Given the description of an element on the screen output the (x, y) to click on. 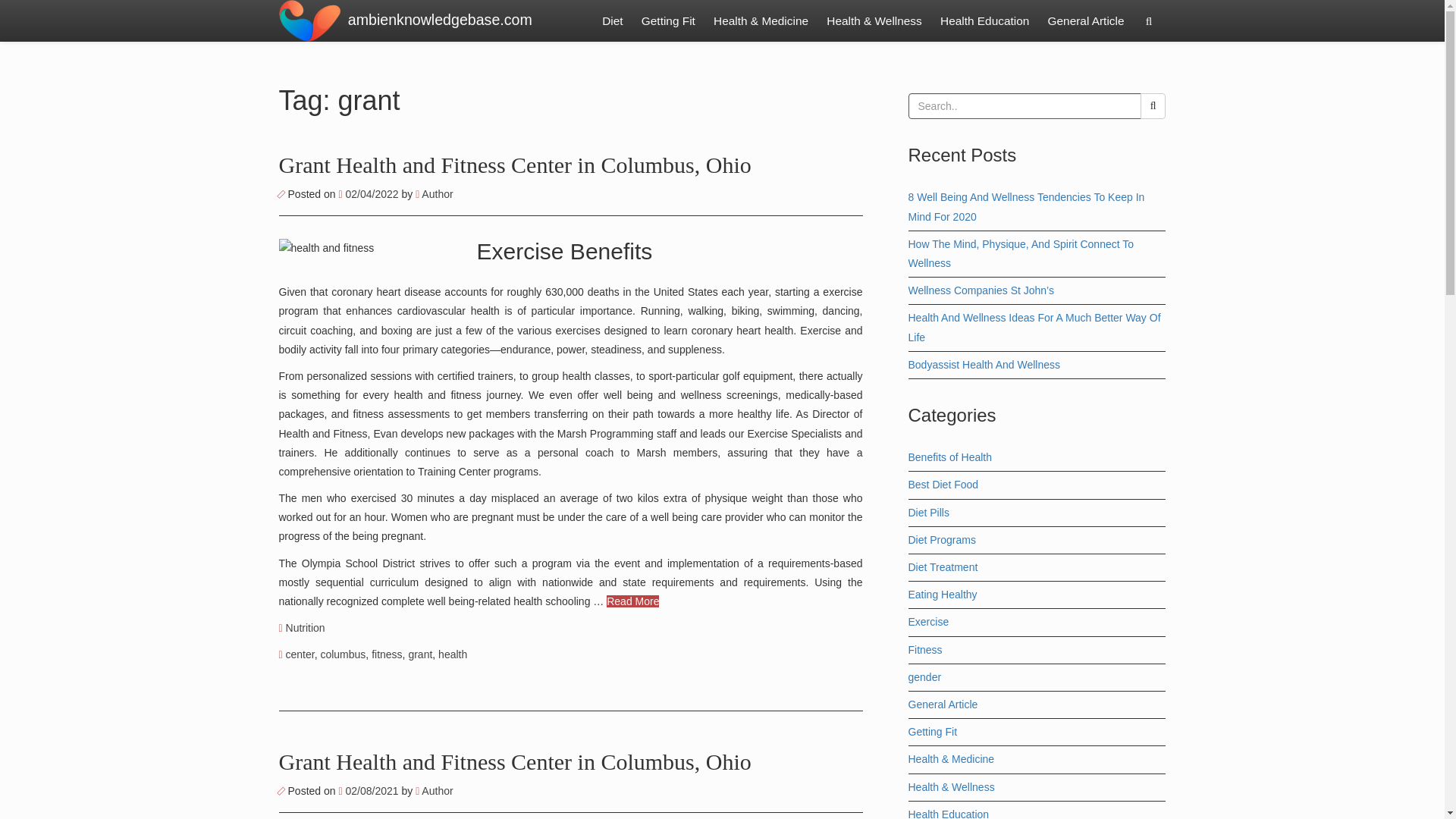
General Article (1086, 20)
Grant Health and Fitness Center in Columbus, Ohio (515, 164)
04:11 (369, 790)
Getting Fit (668, 20)
columbus (342, 654)
grant (419, 654)
Author (433, 193)
Nutrition (304, 627)
fitness (386, 654)
Health Education (984, 20)
Read More (633, 601)
center (299, 654)
ambienknowledgebase.com (439, 20)
13:20 (369, 193)
